Given the description of an element on the screen output the (x, y) to click on. 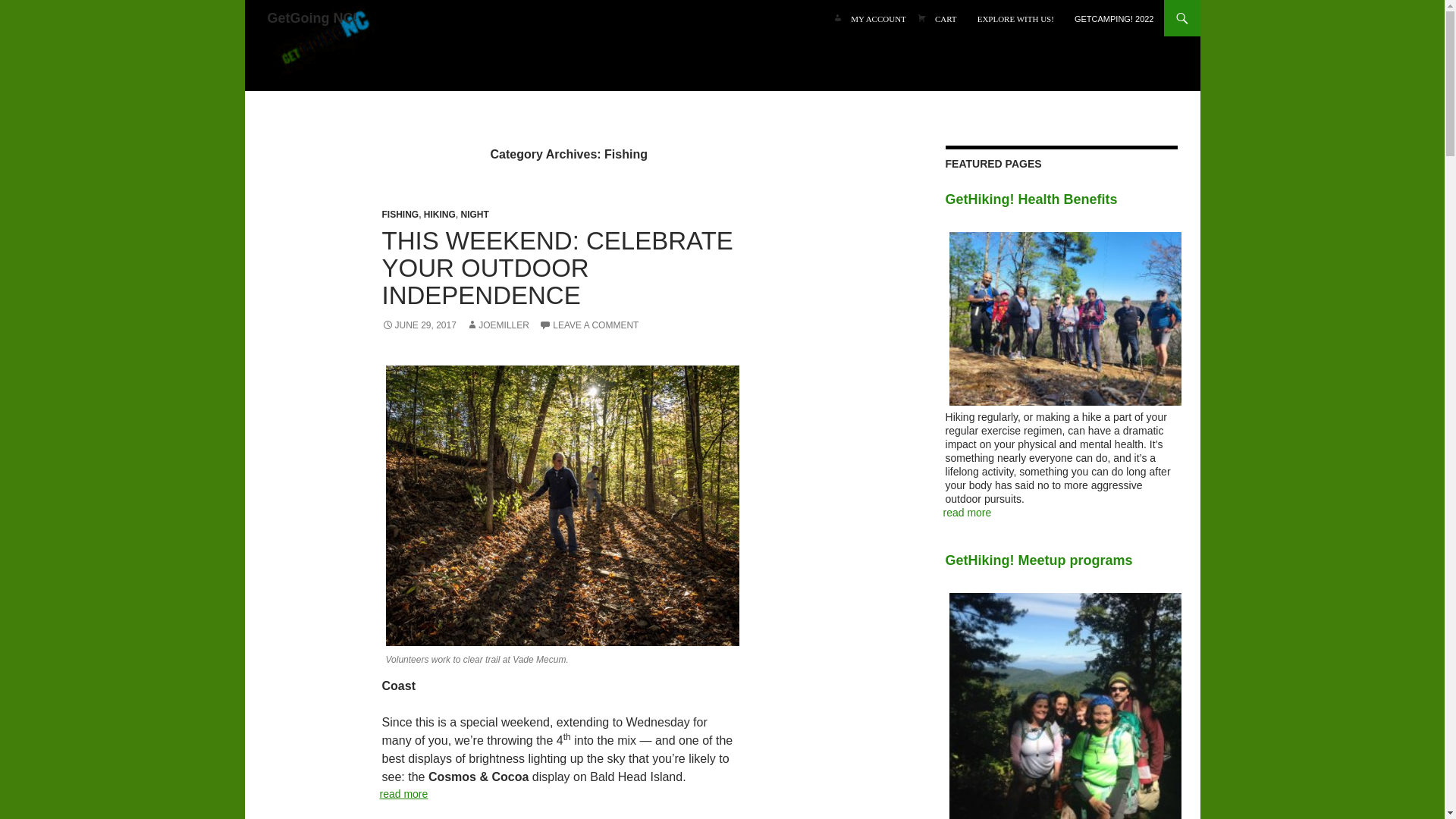
FISHING (400, 214)
read more (403, 793)
MY ACCOUNT (878, 18)
Login (878, 18)
NIGHT (475, 214)
JUNE 29, 2017 (419, 325)
GETCAMPING! 2022 (1114, 18)
Visit Cart (946, 18)
CART (946, 18)
LEAVE A COMMENT (588, 325)
JOEMILLER (497, 325)
HIKING (439, 214)
THIS WEEKEND: CELEBRATE YOUR OUTDOOR INDEPENDENCE  (557, 267)
GetGoing NC! (323, 45)
